Given the description of an element on the screen output the (x, y) to click on. 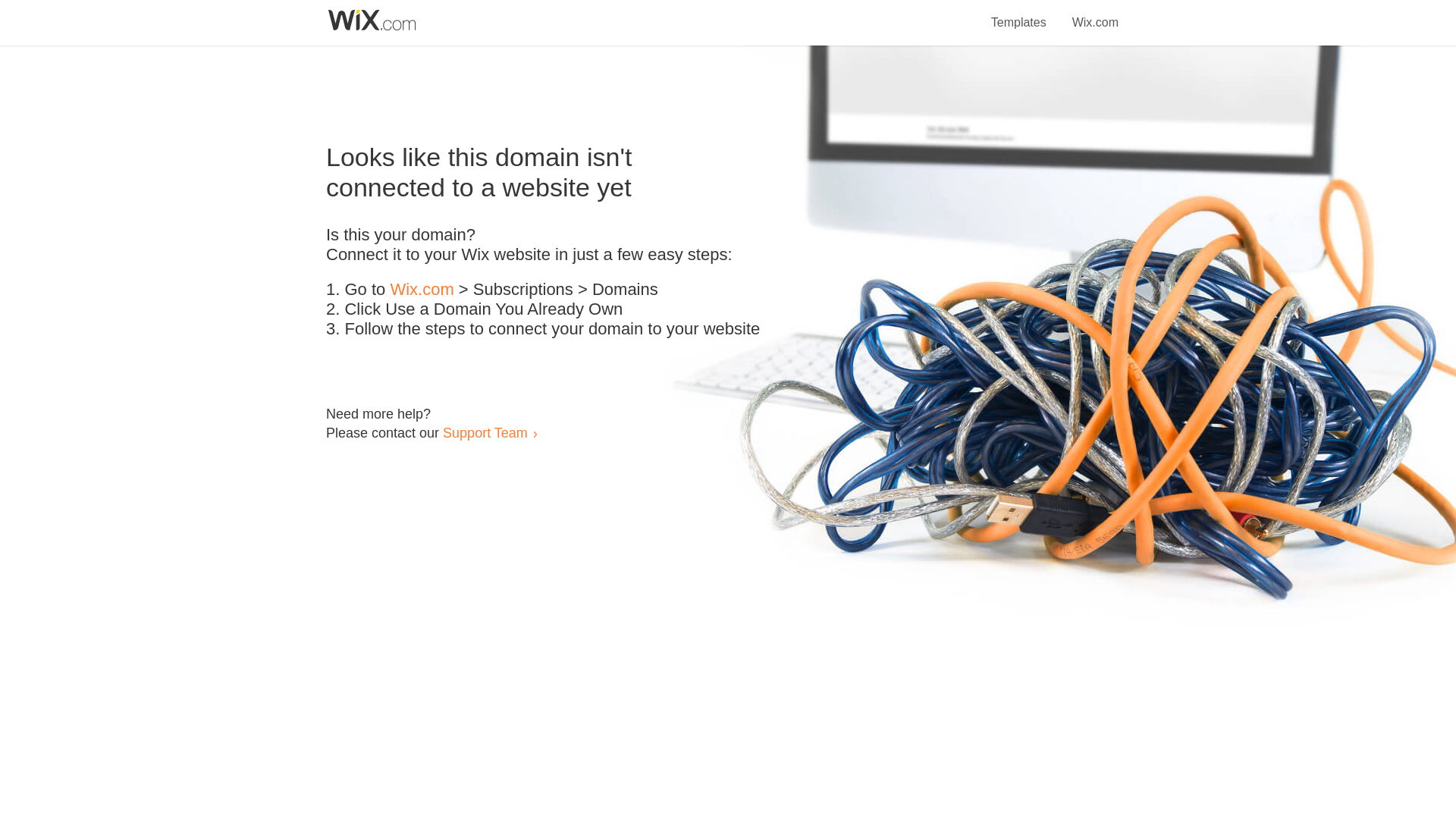
Support Team (484, 432)
Templates (1018, 14)
Wix.com (421, 289)
Wix.com (1095, 14)
